Given the description of an element on the screen output the (x, y) to click on. 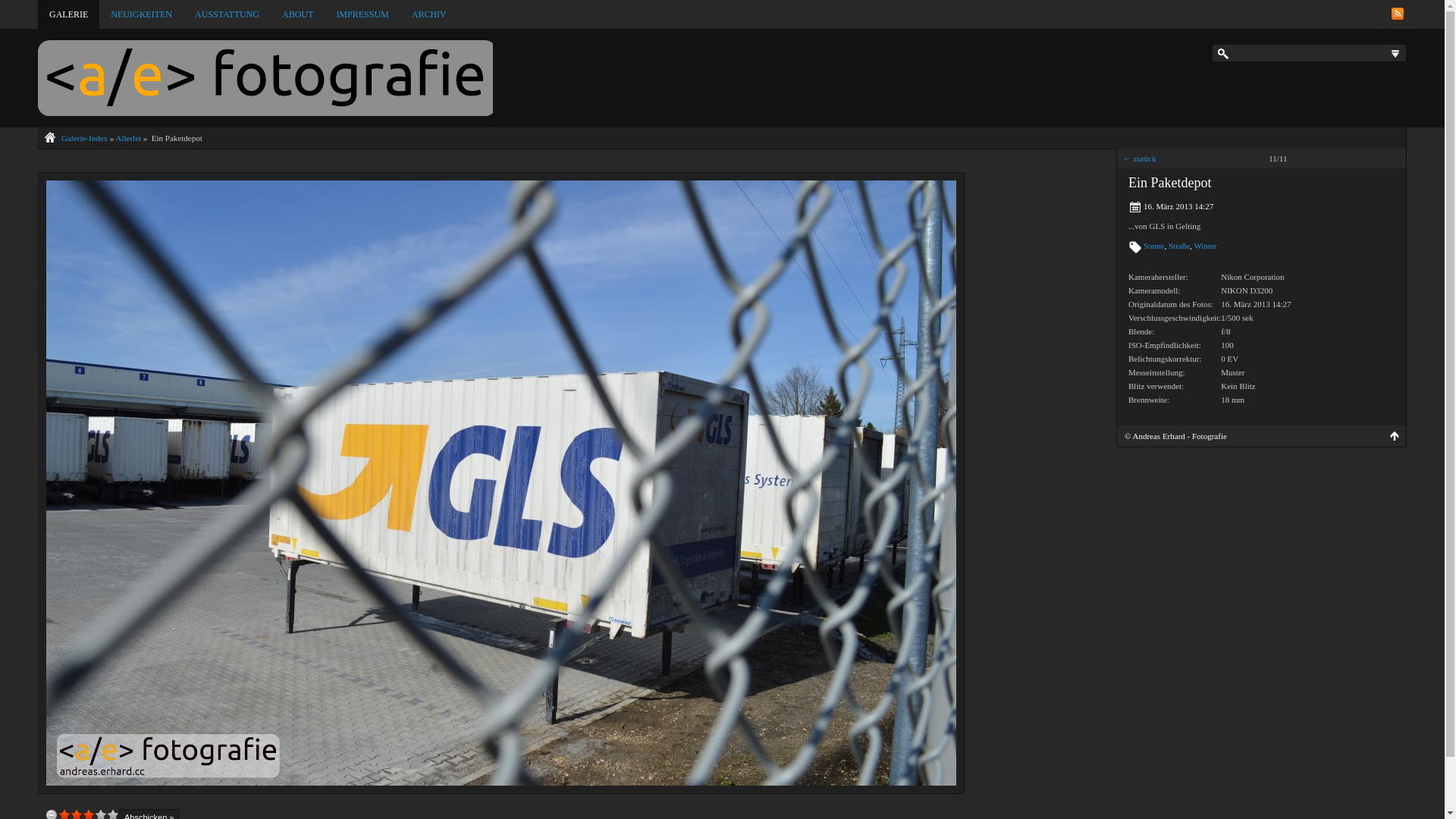
Galerie-Index Element type: text (84, 137)
NEUIGKEITEN Element type: text (141, 14)
Allerlei Element type: text (128, 137)
ABOUT Element type: text (297, 14)
GALERIE Element type: text (68, 14)
Sonne Element type: text (1153, 245)
Sucheinstellungen Element type: hover (1395, 53)
AUSSTATTUNG Element type: text (226, 14)
Ein Paketdepot Element type: hover (501, 782)
RSS Element type: hover (1397, 13)
IMPRESSUM Element type: text (361, 14)
Winter Element type: text (1204, 245)
ARCHIV Element type: text (429, 14)
ANDREAS ERHARD - FOTOGRAFIE Element type: text (264, 78)
Suche Element type: text (22, 10)
